Given the description of an element on the screen output the (x, y) to click on. 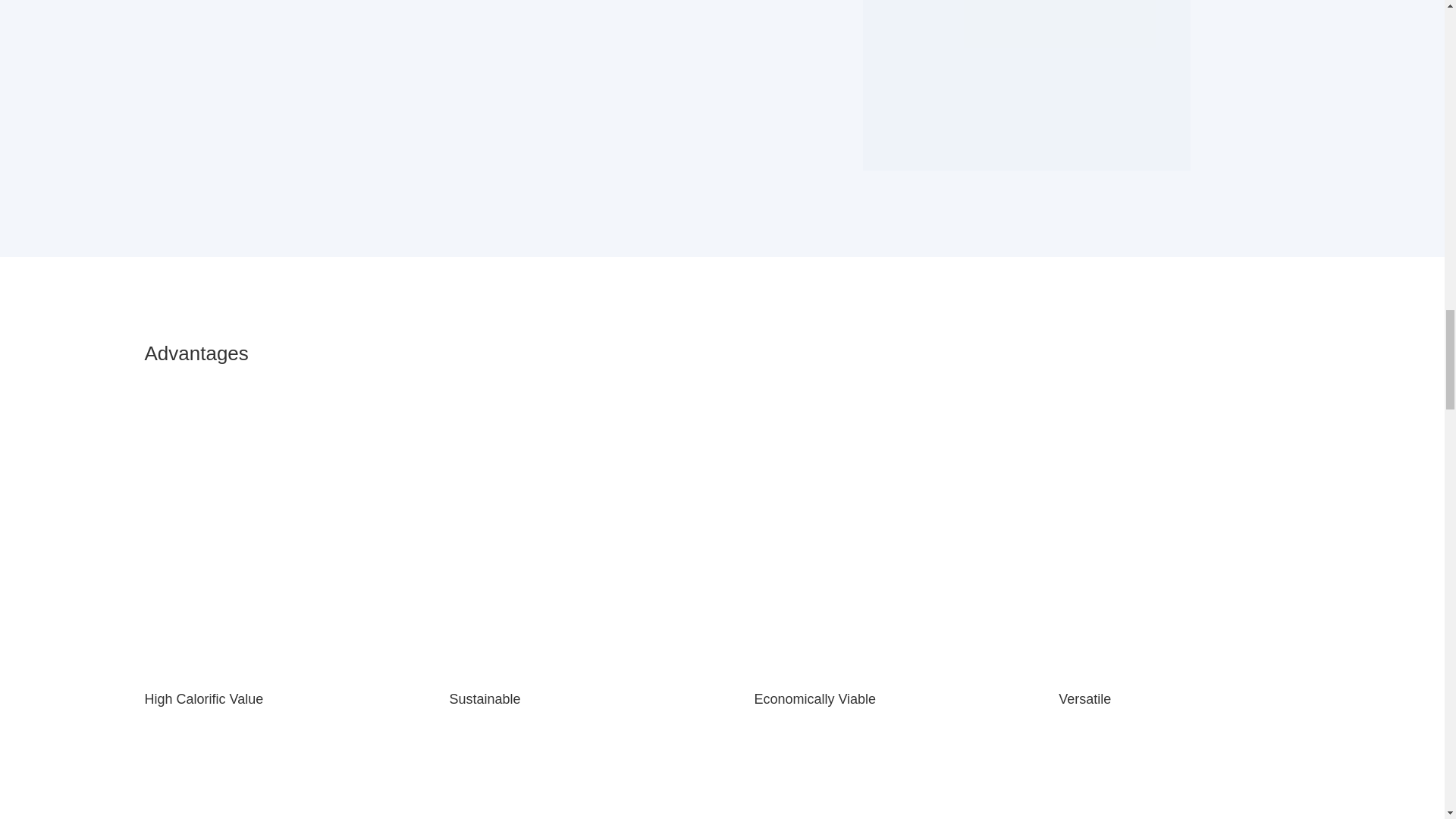
soya-husk-potentiality-and-market (1027, 85)
